Given the description of an element on the screen output the (x, y) to click on. 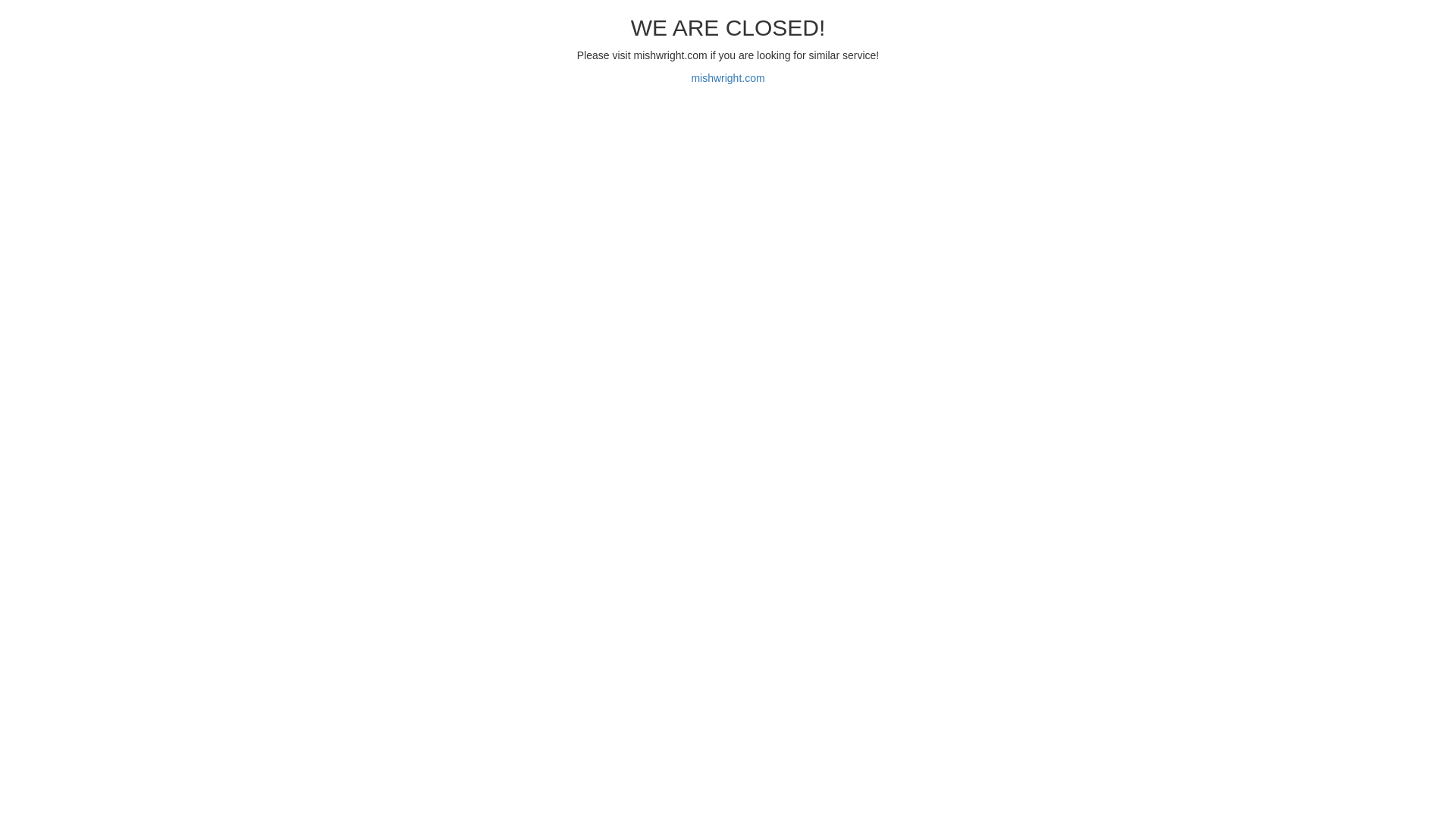
mishwright.com Element type: text (727, 78)
